Given the description of an element on the screen output the (x, y) to click on. 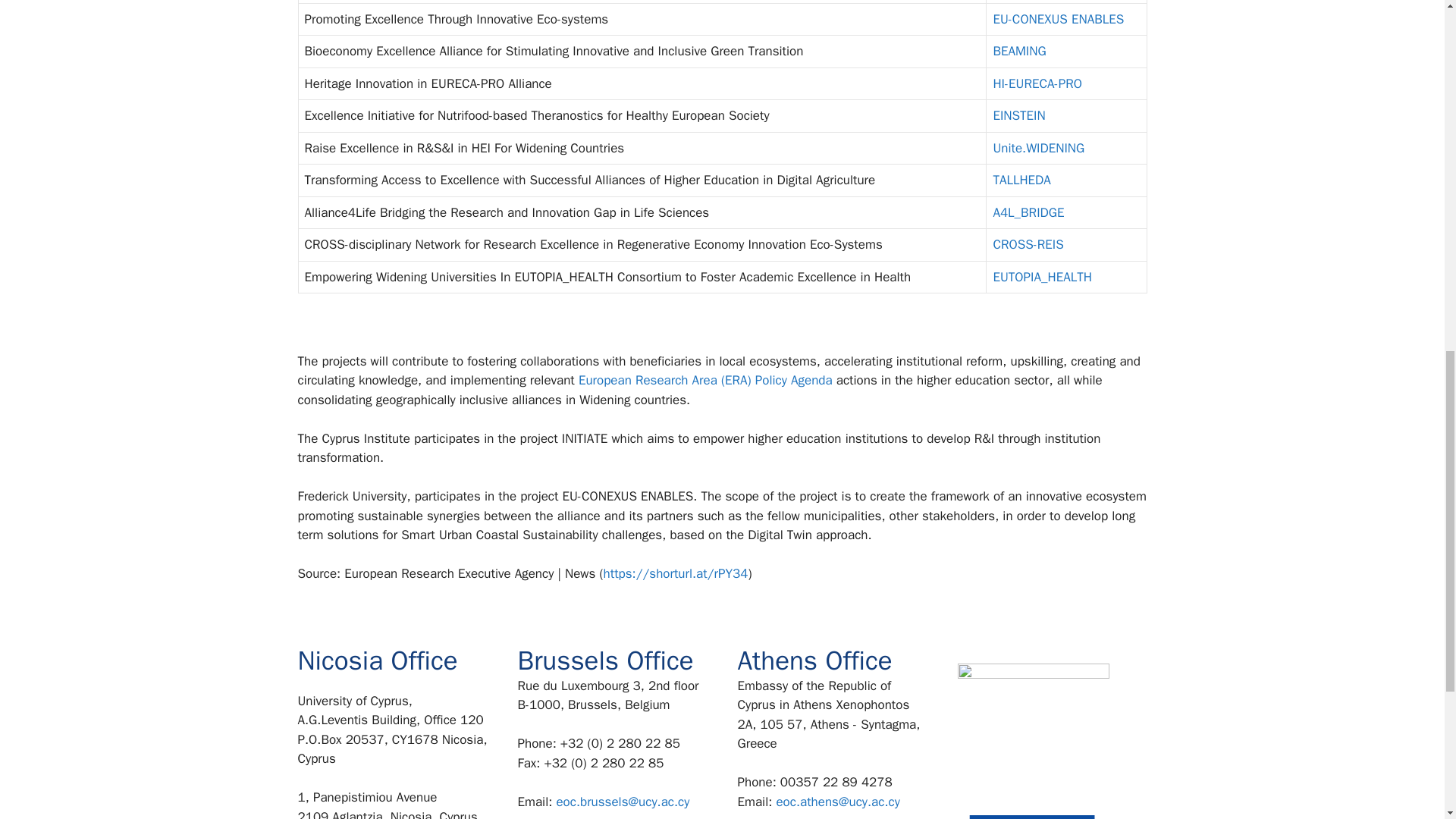
BEAMING (1018, 50)
EU-CONEXUS ENABLES (1058, 19)
Unite.WIDENING (1038, 148)
TALLHEDA (1020, 179)
een 200x200 transp (1032, 738)
Scroll back to top (1406, 720)
CROSS-REIS (1027, 244)
HI-EURECA-PRO (1036, 83)
EINSTEIN (1018, 115)
